Given the description of an element on the screen output the (x, y) to click on. 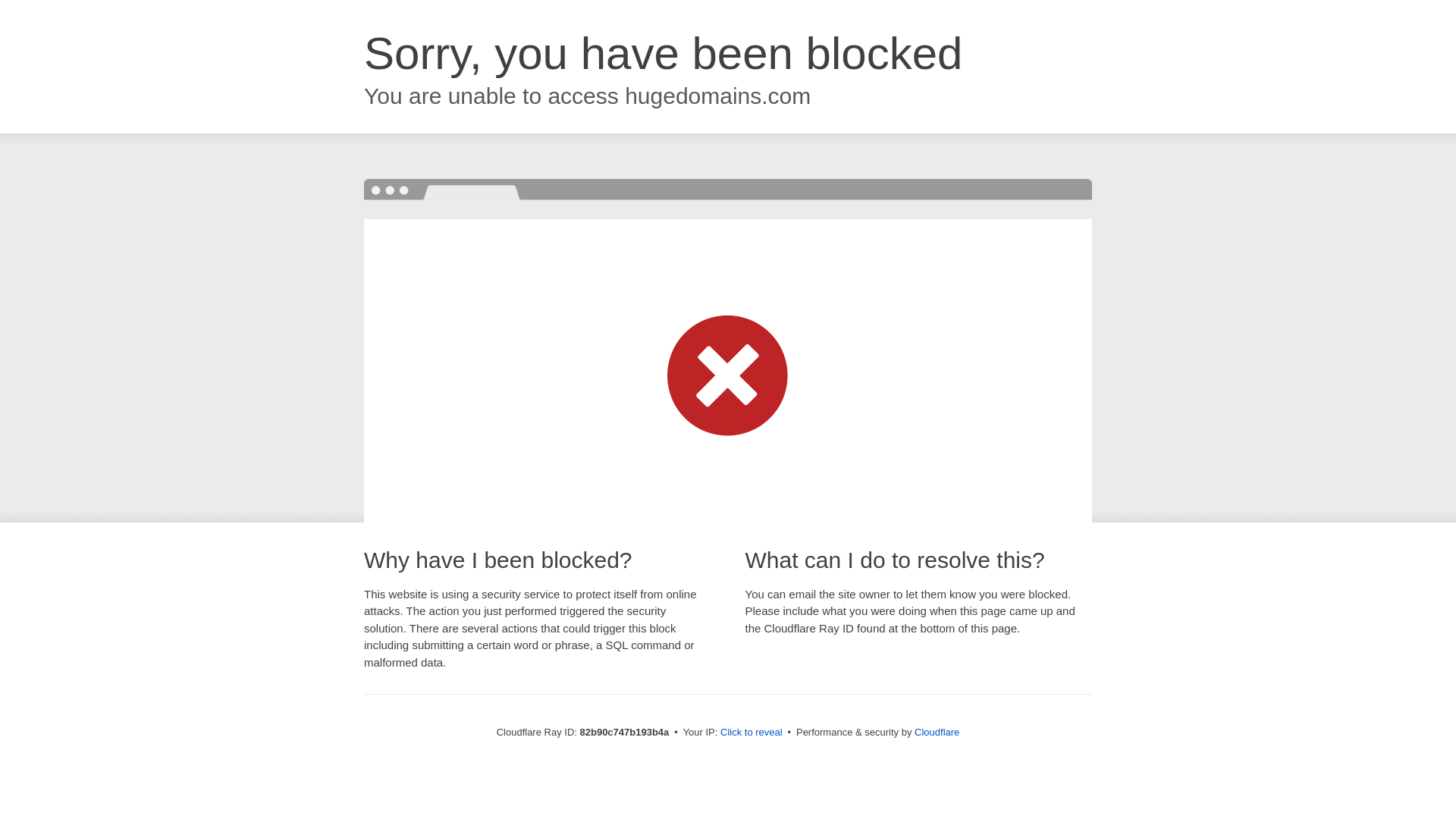
Cloudflare Element type: text (936, 731)
Click to reveal Element type: text (751, 732)
